Given the description of an element on the screen output the (x, y) to click on. 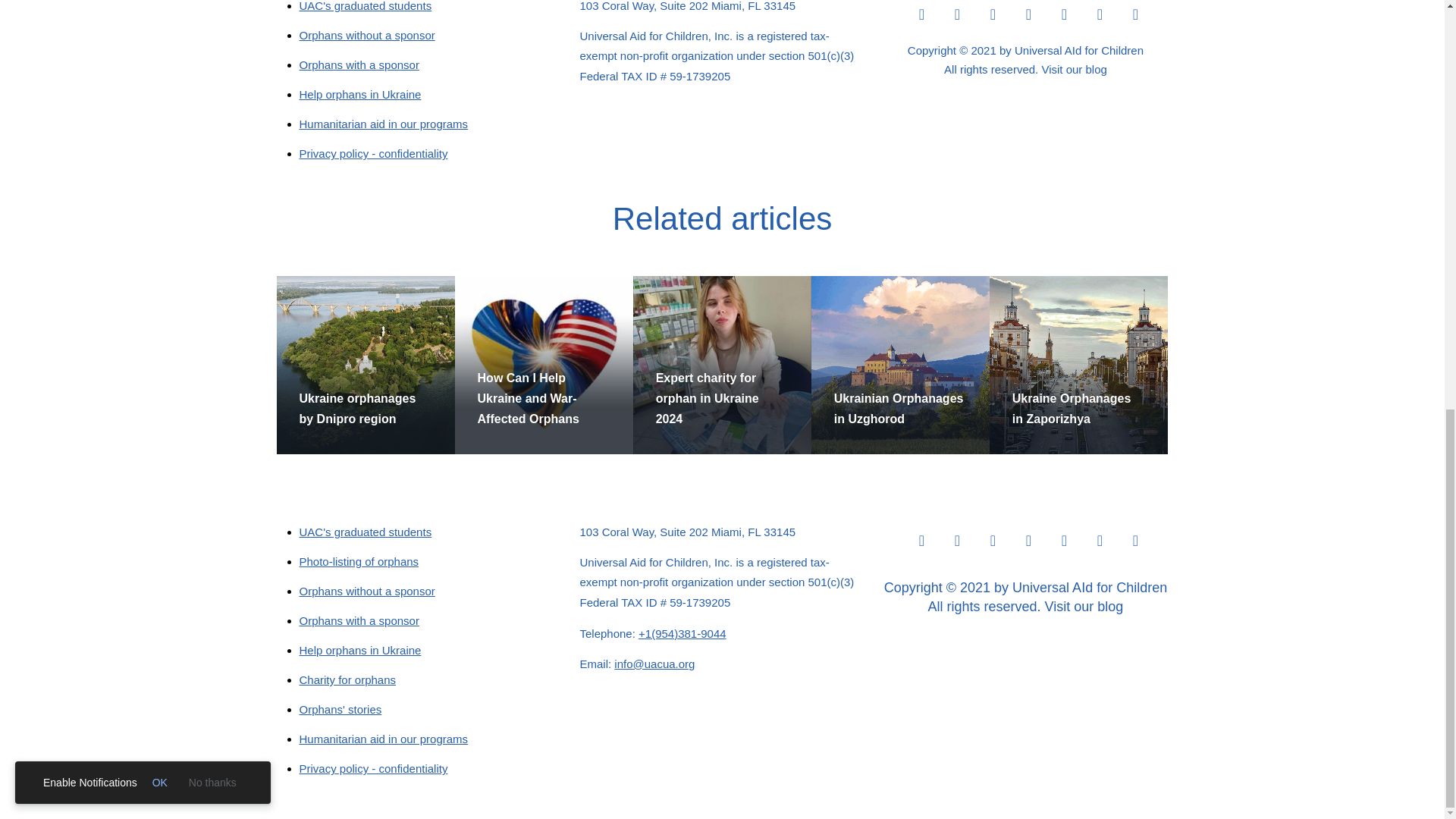
Ukraine Orphanages in Zaporizhya (1071, 408)
Expert charity for orphan in Ukraine 2024 (707, 398)
Help orphans in Ukraine (359, 93)
Privacy policy - confidentiality (372, 153)
UAC's graduated students (364, 6)
UAC's graduated students (364, 531)
Ukraine orphanages by Dnipro region (356, 408)
How Can I Help Ukraine and War-Affected Orphans (528, 398)
Photo-listing of orphans (358, 561)
Humanitarian aid in our programs (382, 123)
Orphans without a sponsor (365, 34)
Ukrainian Orphanages in Uzghorod (898, 408)
Orphans with a sponsor (358, 64)
